Given the description of an element on the screen output the (x, y) to click on. 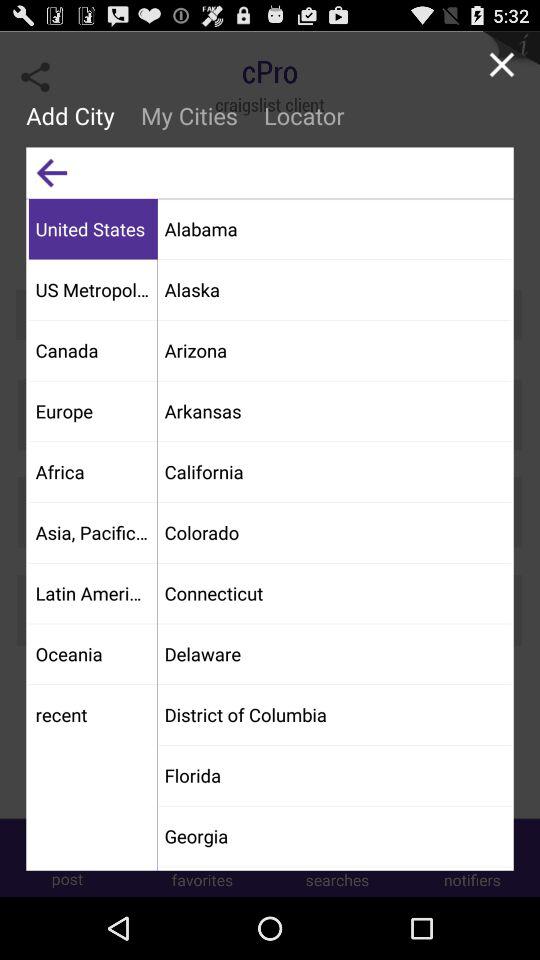
turn on florida app (334, 775)
